Given the description of an element on the screen output the (x, y) to click on. 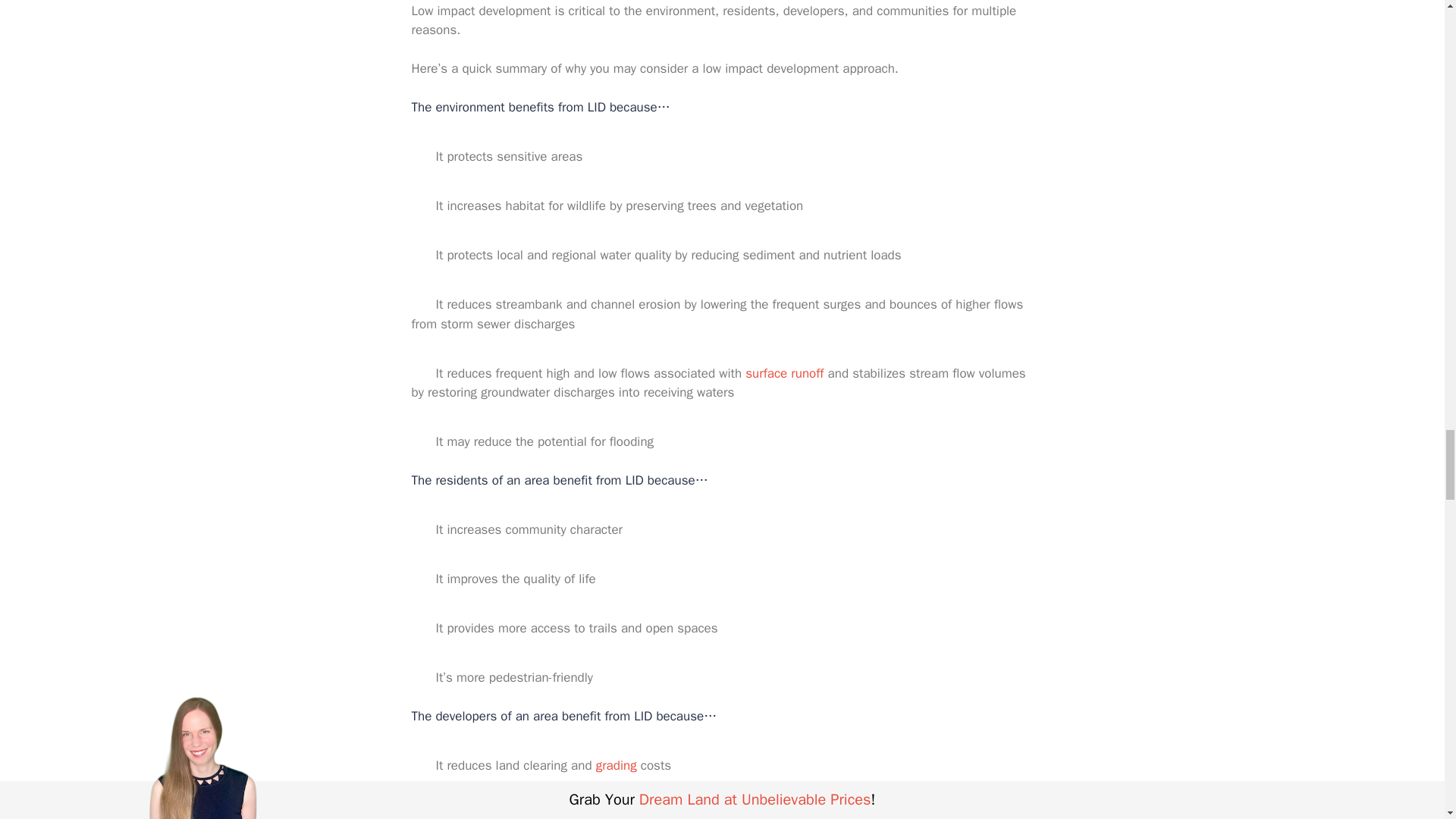
grading (616, 765)
surface runoff (784, 373)
